Given the description of an element on the screen output the (x, y) to click on. 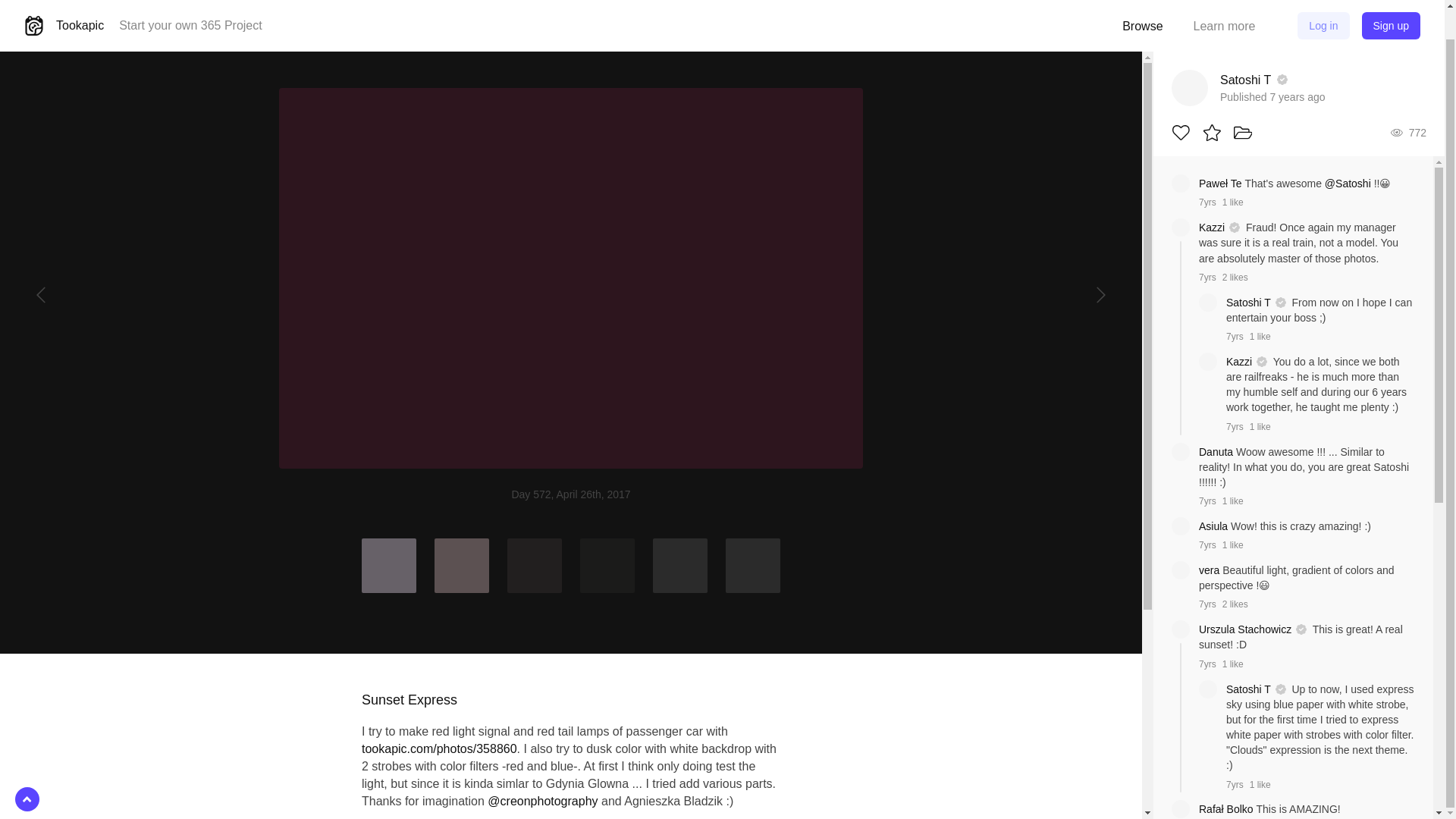
Browse (1141, 25)
Start your own 365 Project (190, 24)
Learn more (1224, 25)
Sign up (1391, 25)
Log in (1323, 25)
